Given the description of an element on the screen output the (x, y) to click on. 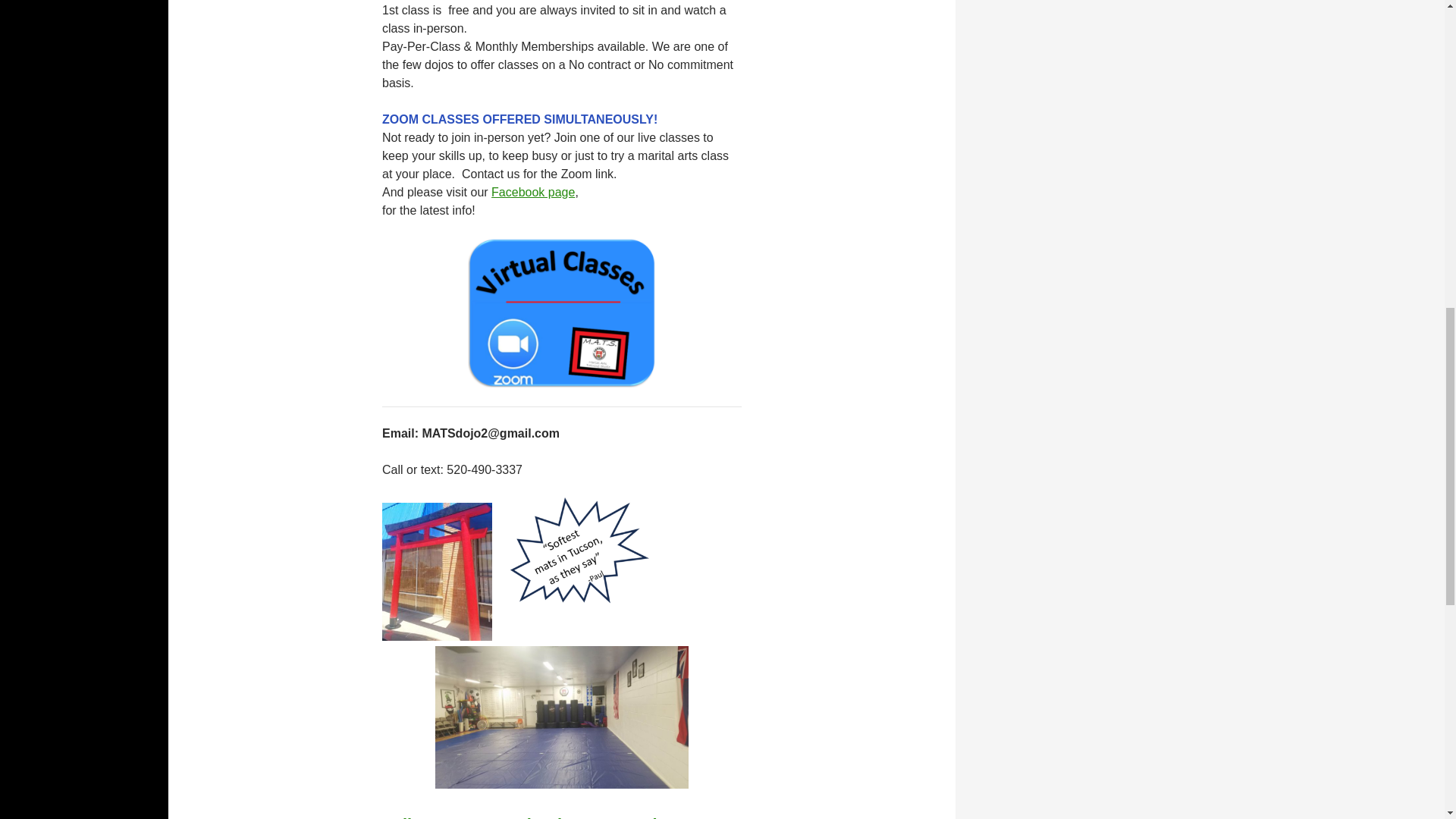
Facebook page (533, 192)
